Given the description of an element on the screen output the (x, y) to click on. 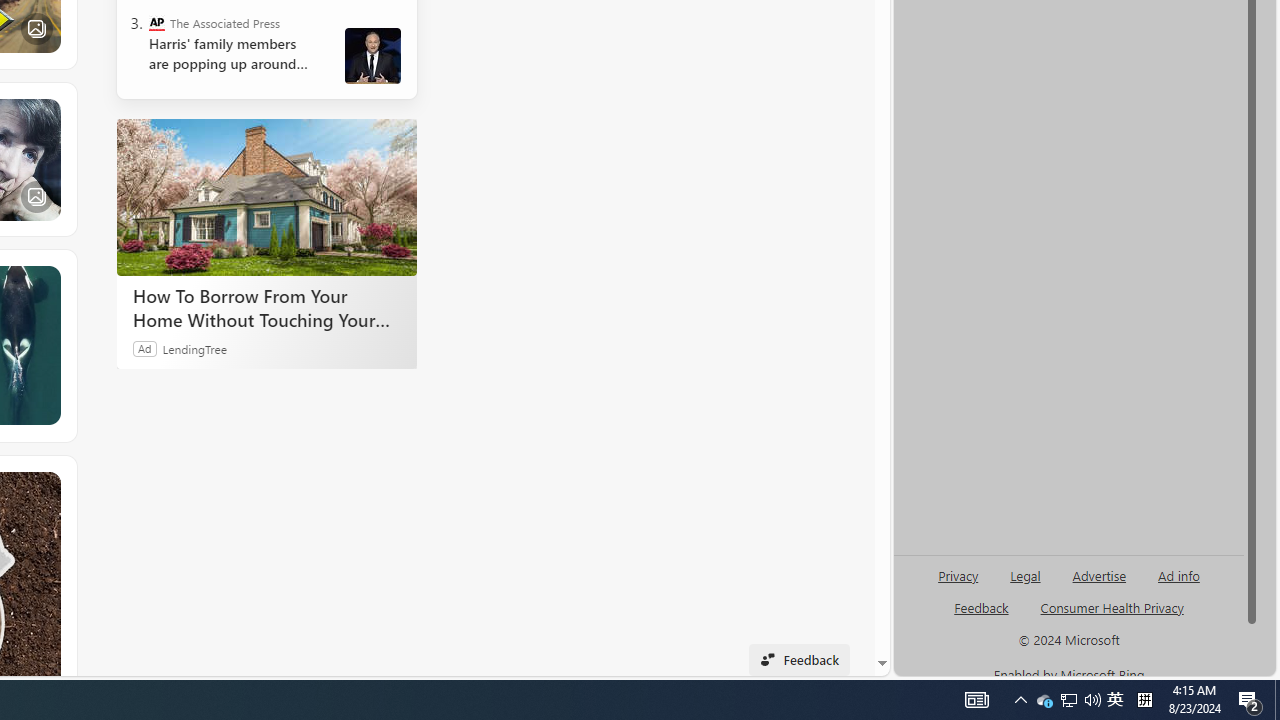
AutomationID: sb_feedback (980, 607)
AutomationID: genId96 (981, 615)
